Given the description of an element on the screen output the (x, y) to click on. 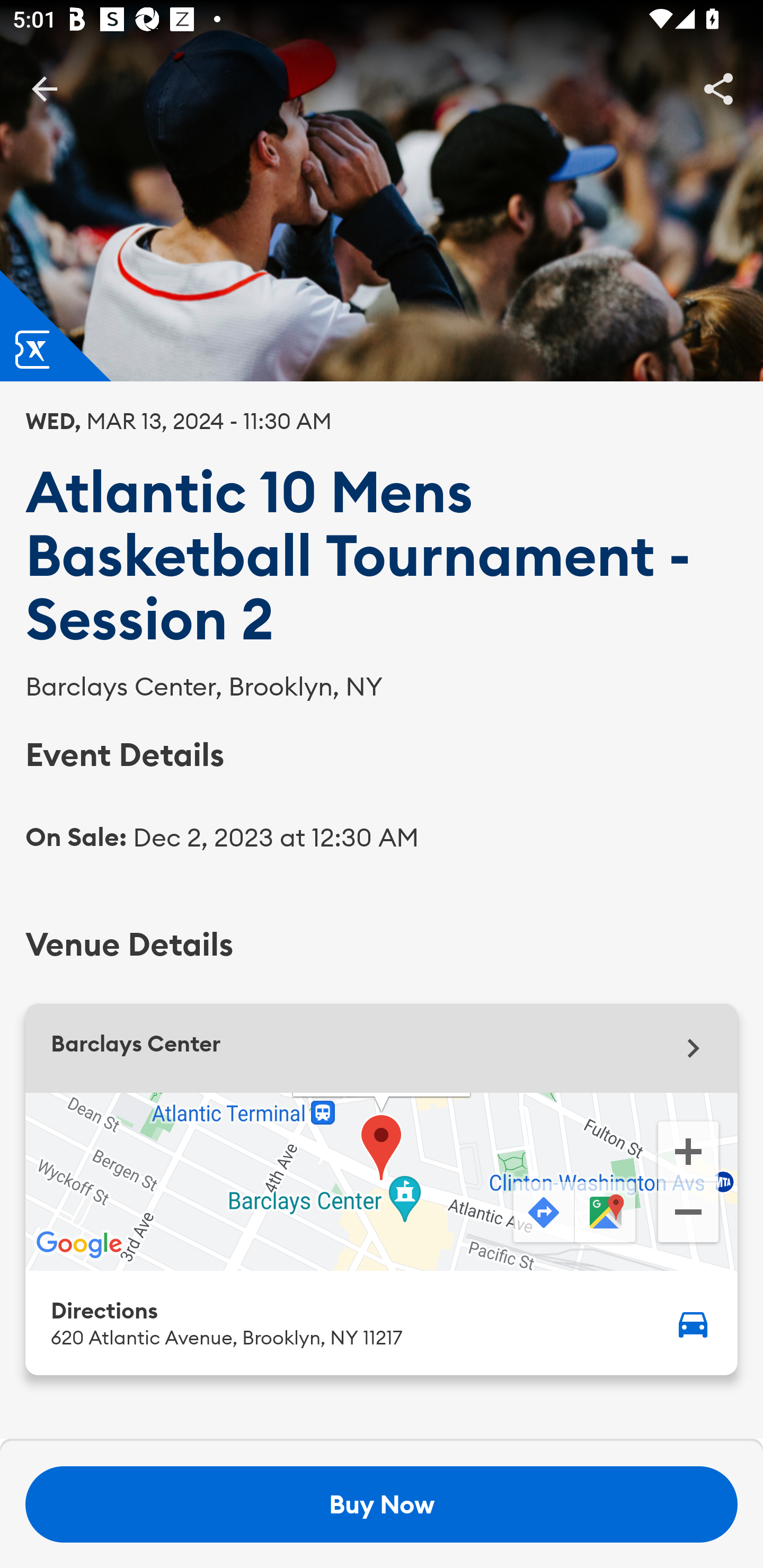
BackButton (44, 88)
Share (718, 88)
Barclays Center (381, 1047)
Zoom in (687, 1149)
Get directions (541, 1212)
Open in Google Maps (606, 1212)
Zoom out (687, 1214)
Directions 620 Atlantic Avenue, Brooklyn, NY 11217 (381, 1322)
Buy Now (381, 1504)
